Given the description of an element on the screen output the (x, y) to click on. 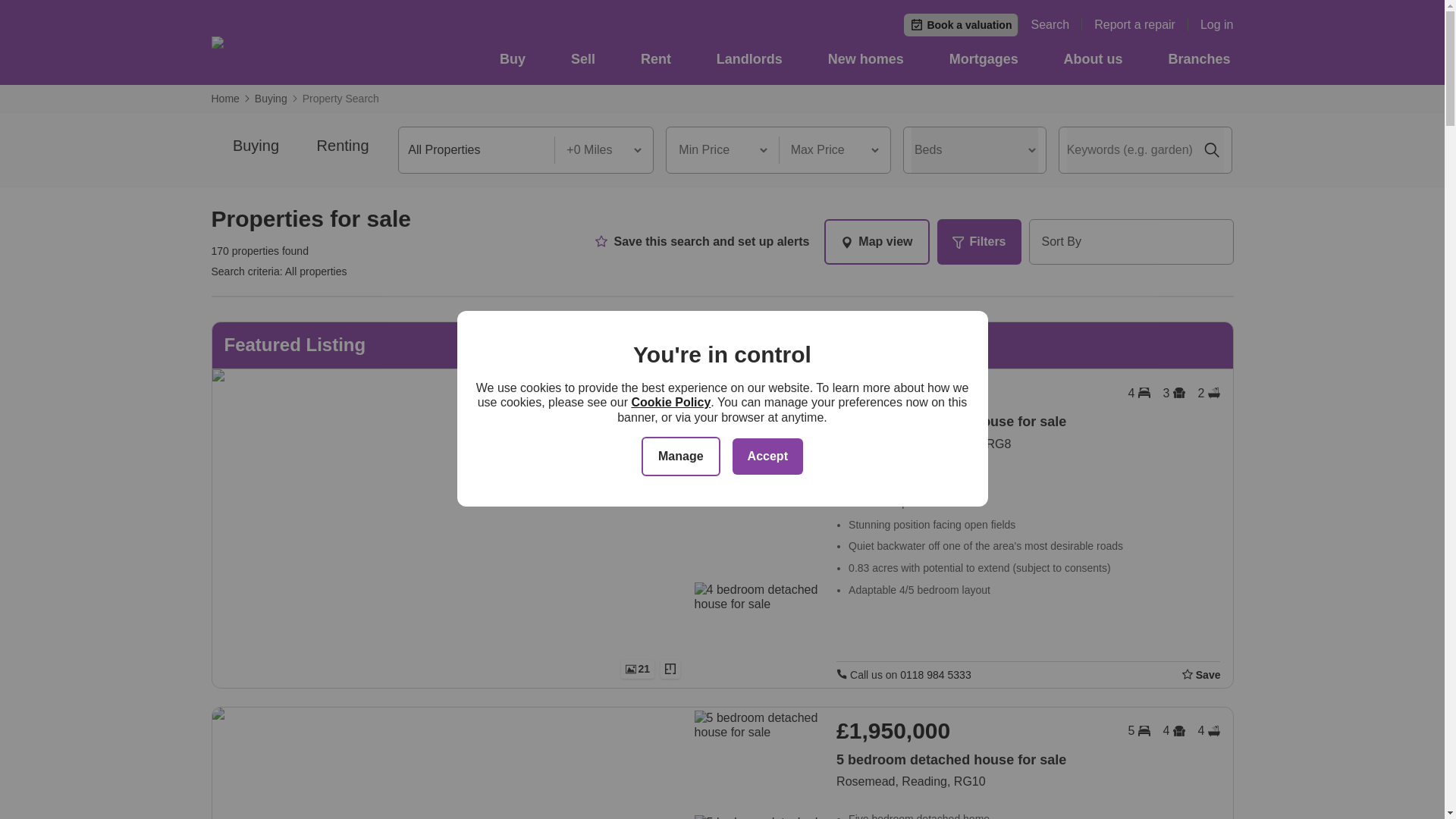
Search (1055, 24)
Book a valuation (960, 24)
Report a repair (1141, 24)
Log in (1216, 24)
All Properties (475, 149)
Report a repair (1141, 24)
Search (1055, 24)
Book a valuation (960, 24)
Log in (1216, 24)
